Given the description of an element on the screen output the (x, y) to click on. 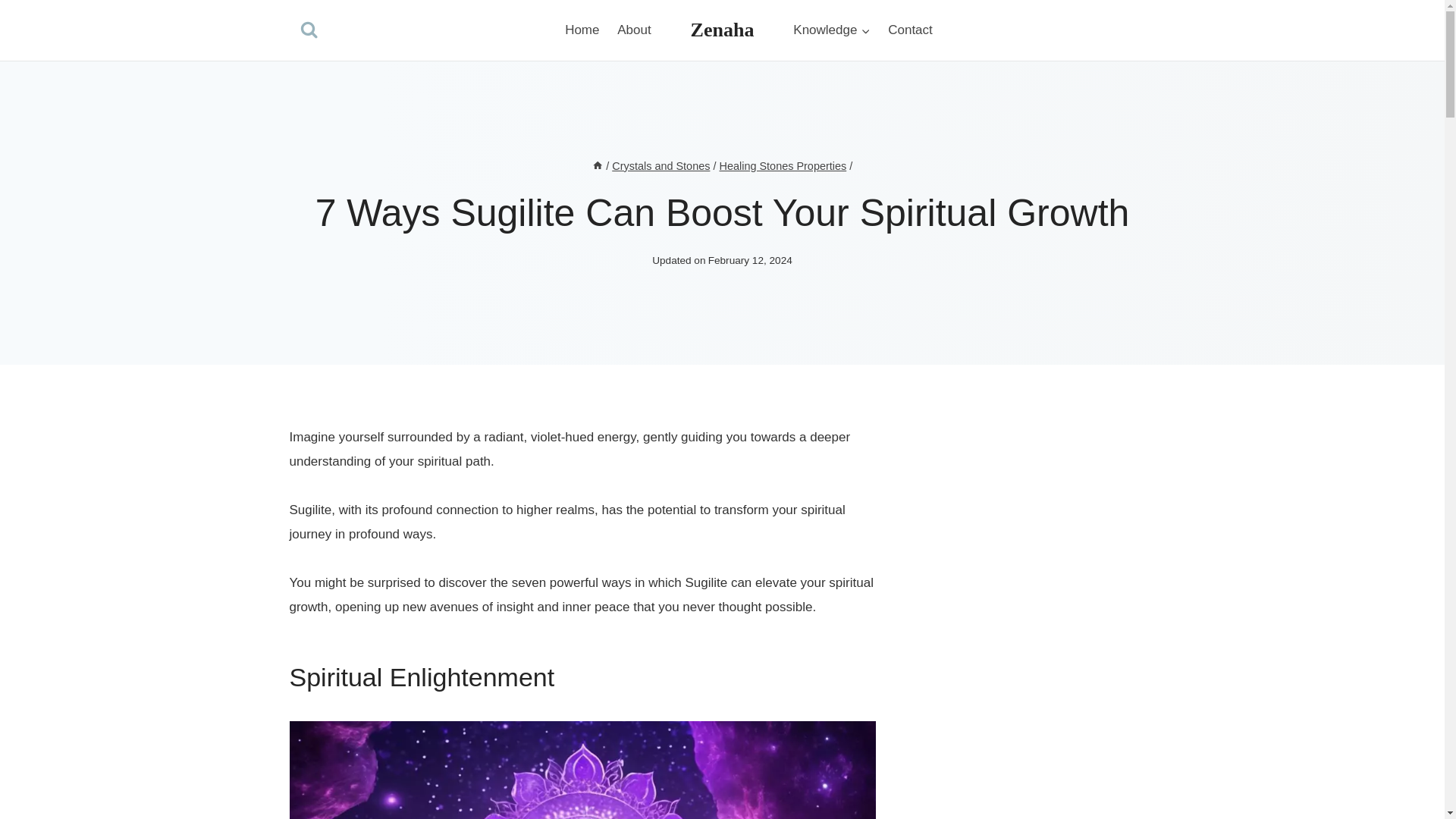
Zenaha (722, 29)
Contact (909, 29)
Knowledge (831, 29)
7 Ways Sugilite Can Boost Your Spiritual Growth 1 (582, 770)
Healing Stones Properties (782, 165)
Home (582, 29)
About (633, 29)
Crystals and Stones (660, 165)
